Given the description of an element on the screen output the (x, y) to click on. 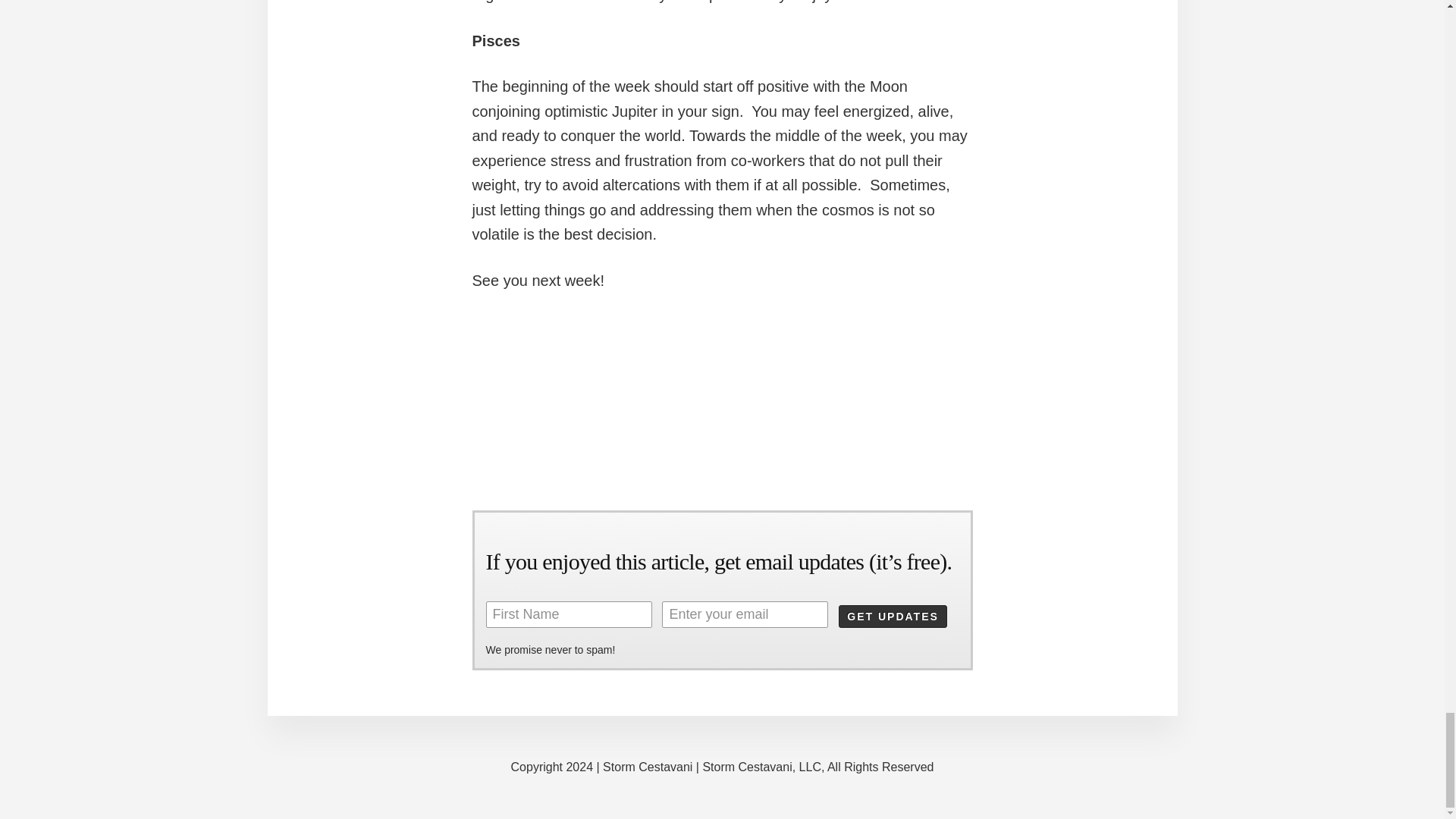
Get Updates (892, 616)
Get Updates (892, 616)
